Given the description of an element on the screen output the (x, y) to click on. 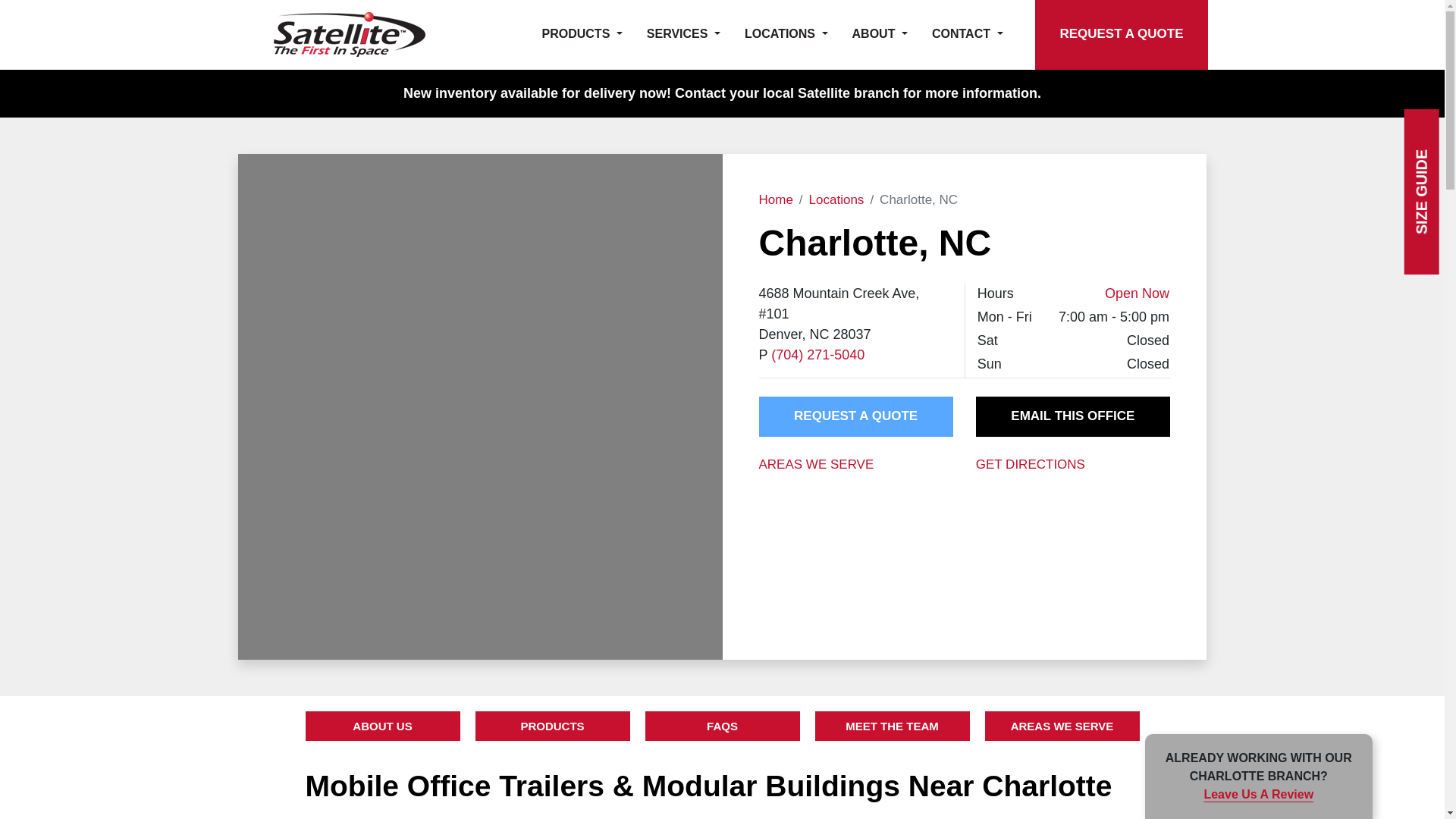
LOCATIONS (786, 34)
skip to main content (13, 6)
SERVICES (683, 34)
PRODUCTS (582, 34)
Leave Us A Review (1258, 793)
